Given the description of an element on the screen output the (x, y) to click on. 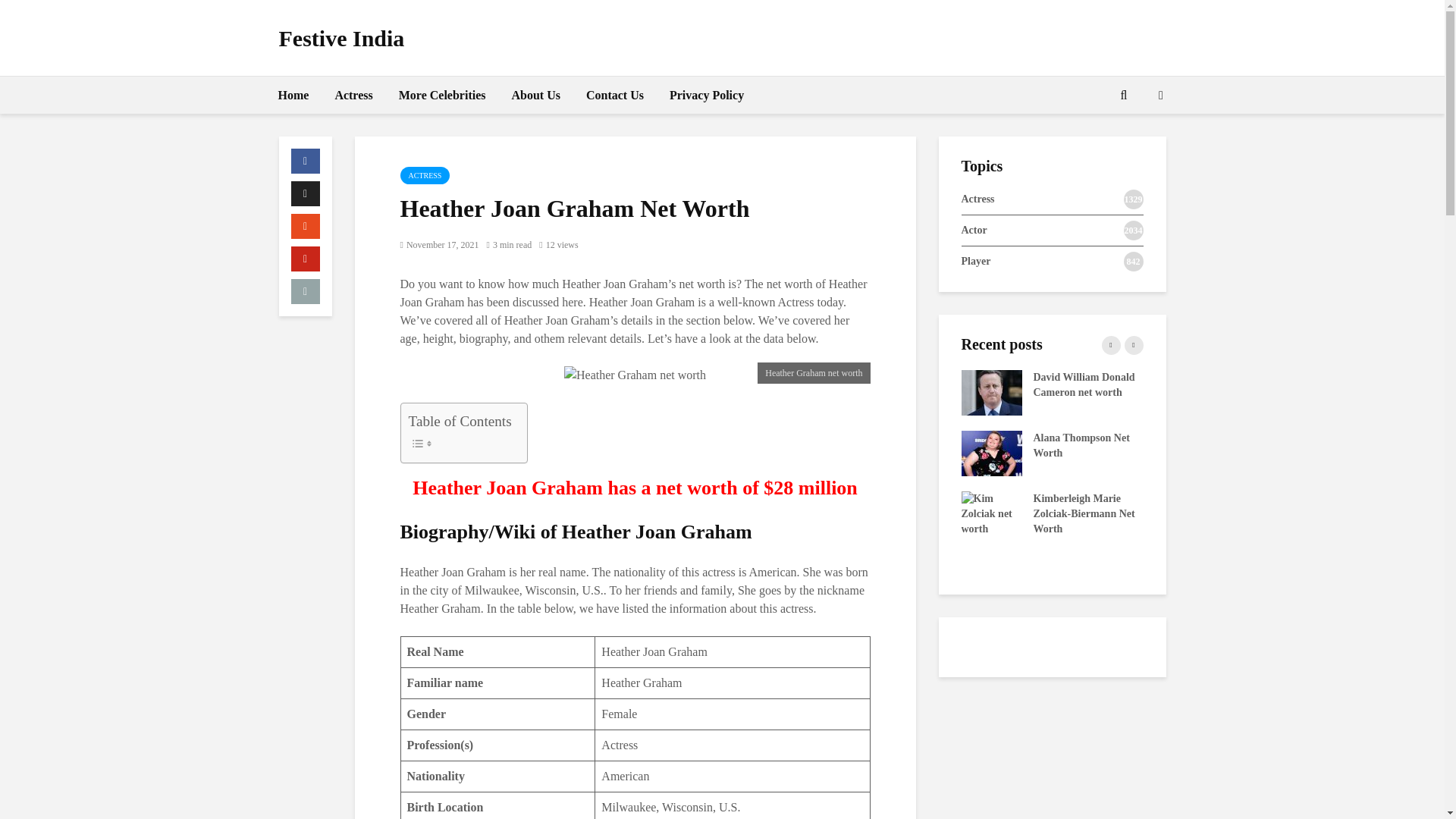
Festive India (341, 37)
Kimberleigh Marie Zolciak-Biermann Net Worth (991, 512)
Margaret Cassidy Lawson Net Worth (809, 451)
ACTRESS (424, 175)
About Us (536, 95)
Dale Chihuly Net Worth (809, 512)
David William Donald Cameron net worth (991, 391)
Jorja-An Fox Net Worth (809, 391)
More Celebrities (442, 95)
Contact Us (615, 95)
Home (293, 95)
Privacy Policy (706, 95)
